Given the description of an element on the screen output the (x, y) to click on. 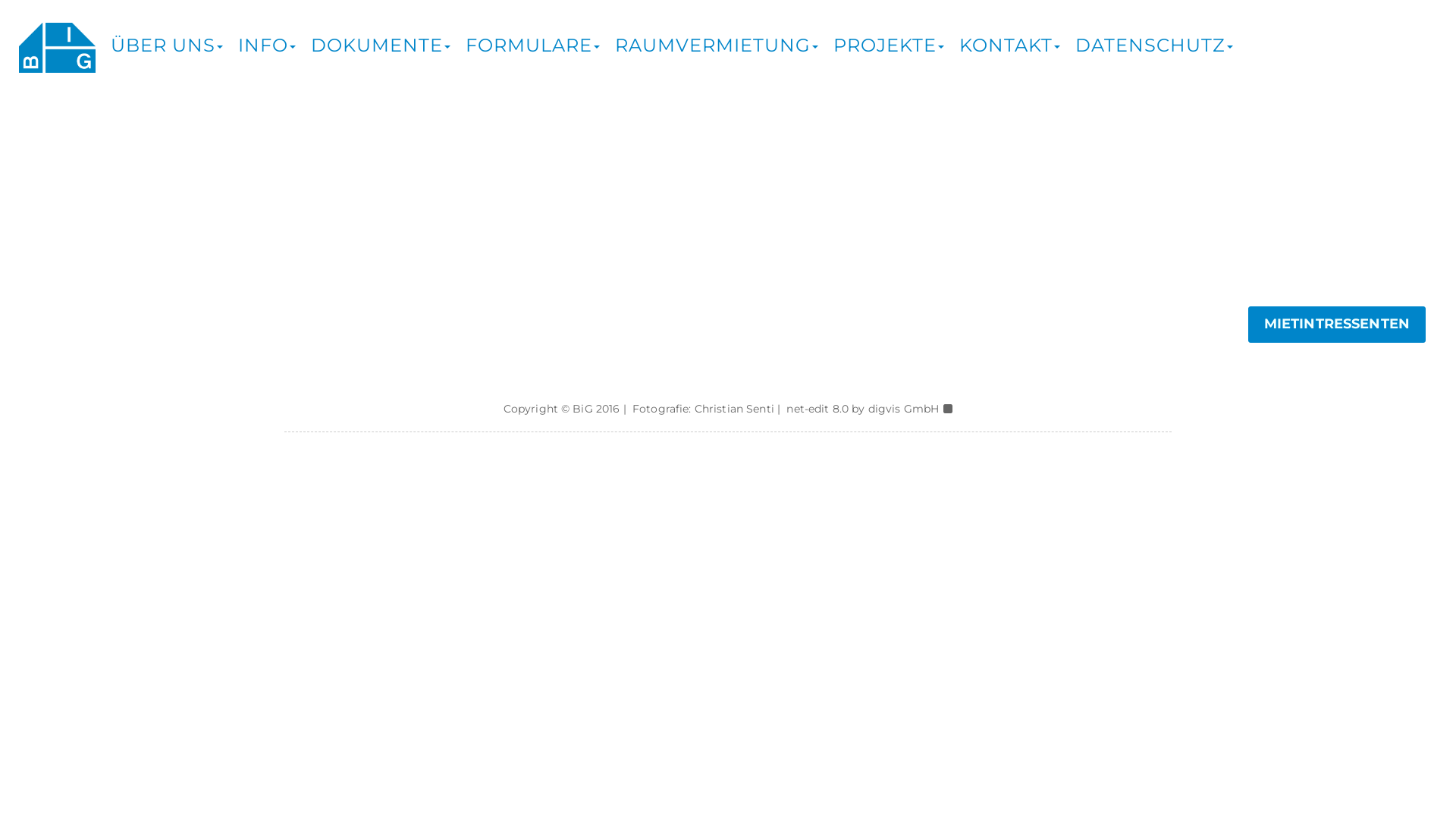
DATENSCHUTZ Element type: text (1149, 41)
net-edit 8.0 by digvis GmbH Element type: text (862, 408)
INFO Element type: text (262, 41)
FORMULARE Element type: text (528, 41)
KONTAKT Element type: text (1005, 41)
DOKUMENTE Element type: text (376, 41)
PROJEKTE Element type: text (884, 41)
MIETINTRESSENTEN Element type: text (1336, 324)
RAUMVERMIETUNG Element type: text (712, 41)
Fotografie: Christian Senti Element type: text (703, 408)
